Given the description of an element on the screen output the (x, y) to click on. 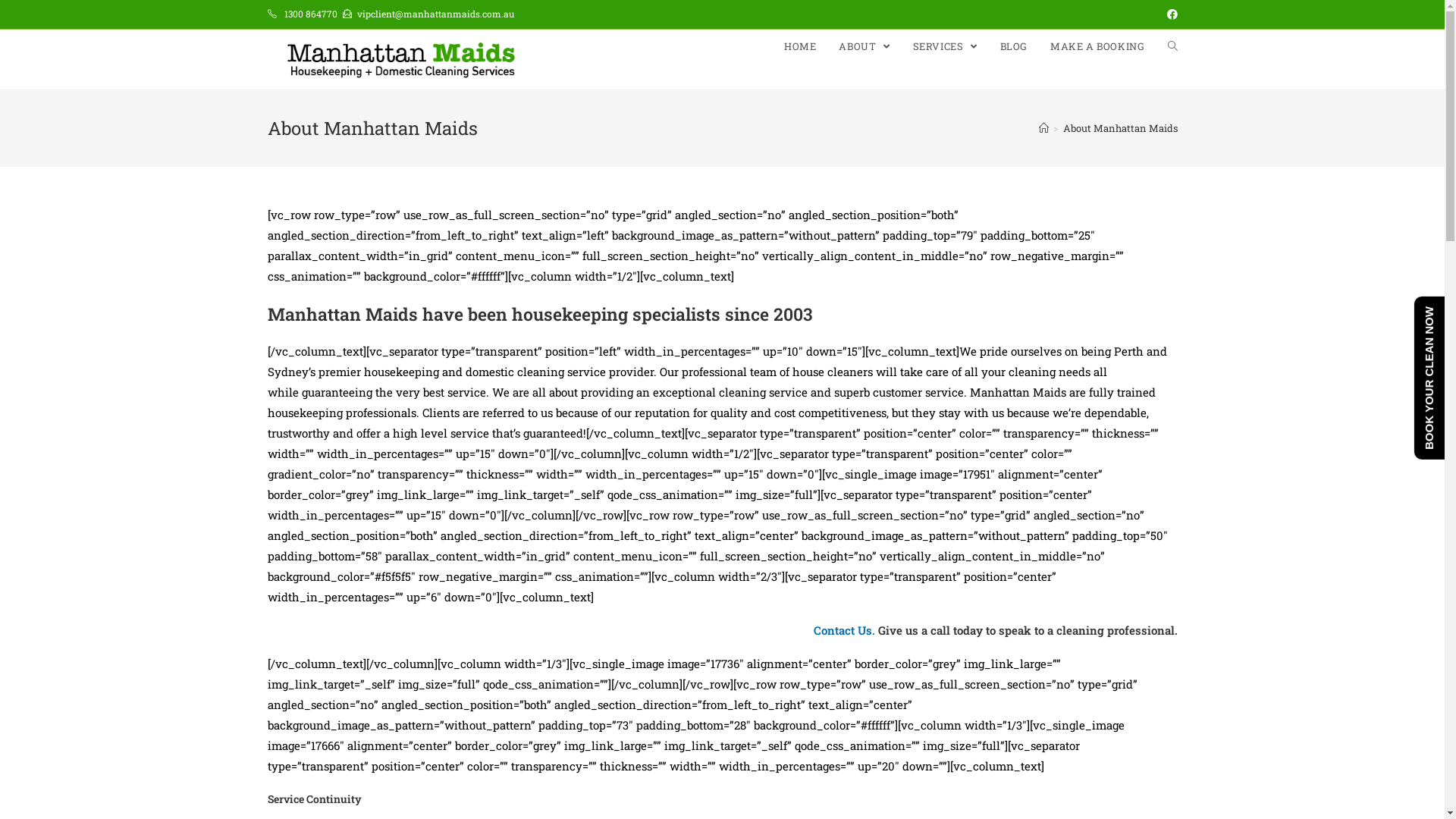
HOME Element type: text (799, 46)
vipclient@manhattanmaids.com.au Element type: text (434, 13)
About Manhattan Maids Element type: text (1120, 127)
1300 864770 Element type: text (309, 13)
ABOUT Element type: text (863, 46)
MAKE A BOOKING Element type: text (1096, 46)
BLOG Element type: text (1013, 46)
SERVICES Element type: text (944, 46)
